Given the description of an element on the screen output the (x, y) to click on. 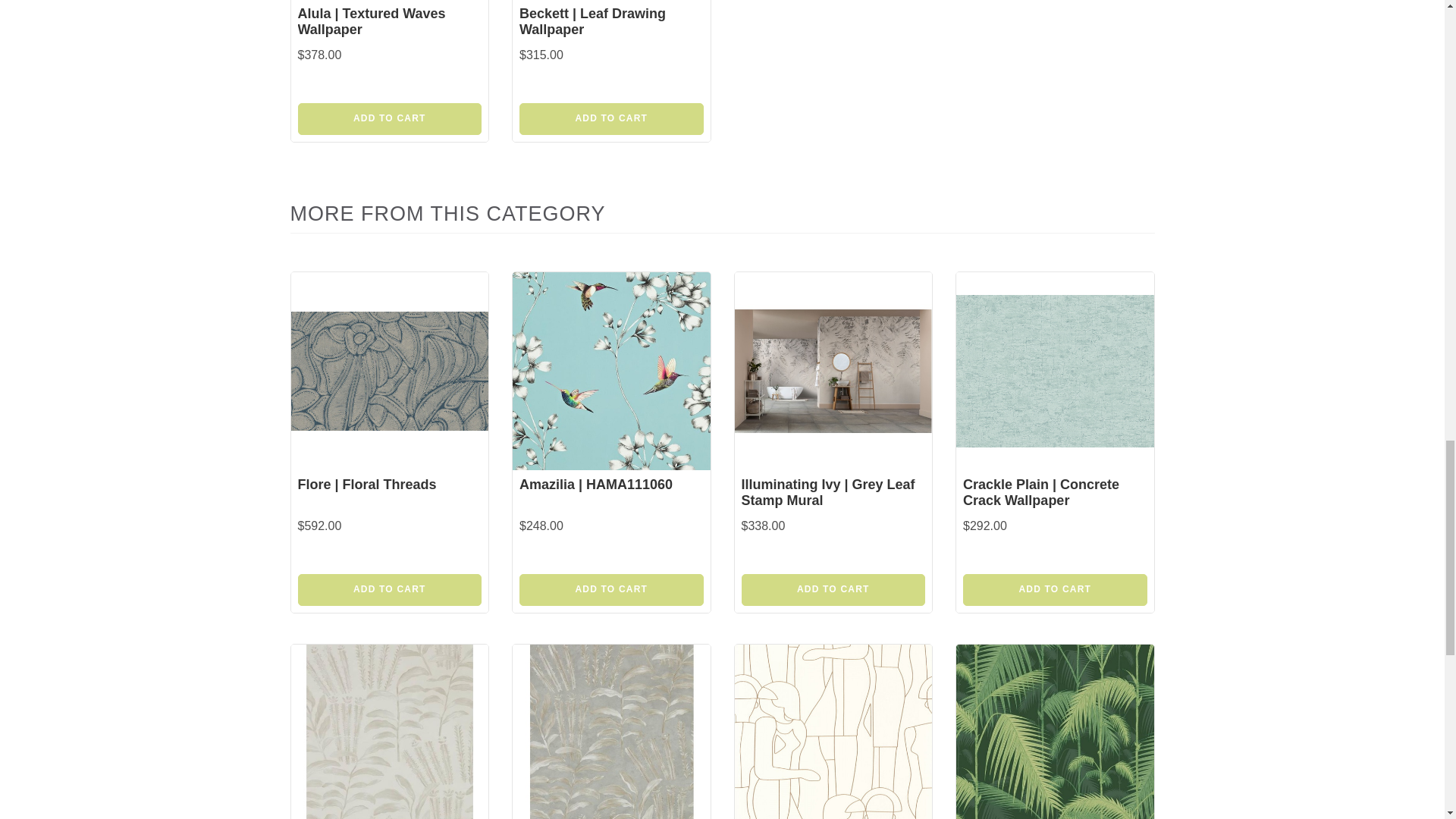
Add to Cart (389, 590)
Add to Cart (611, 590)
Add to Cart (389, 119)
Add to Cart (611, 119)
